Given the description of an element on the screen output the (x, y) to click on. 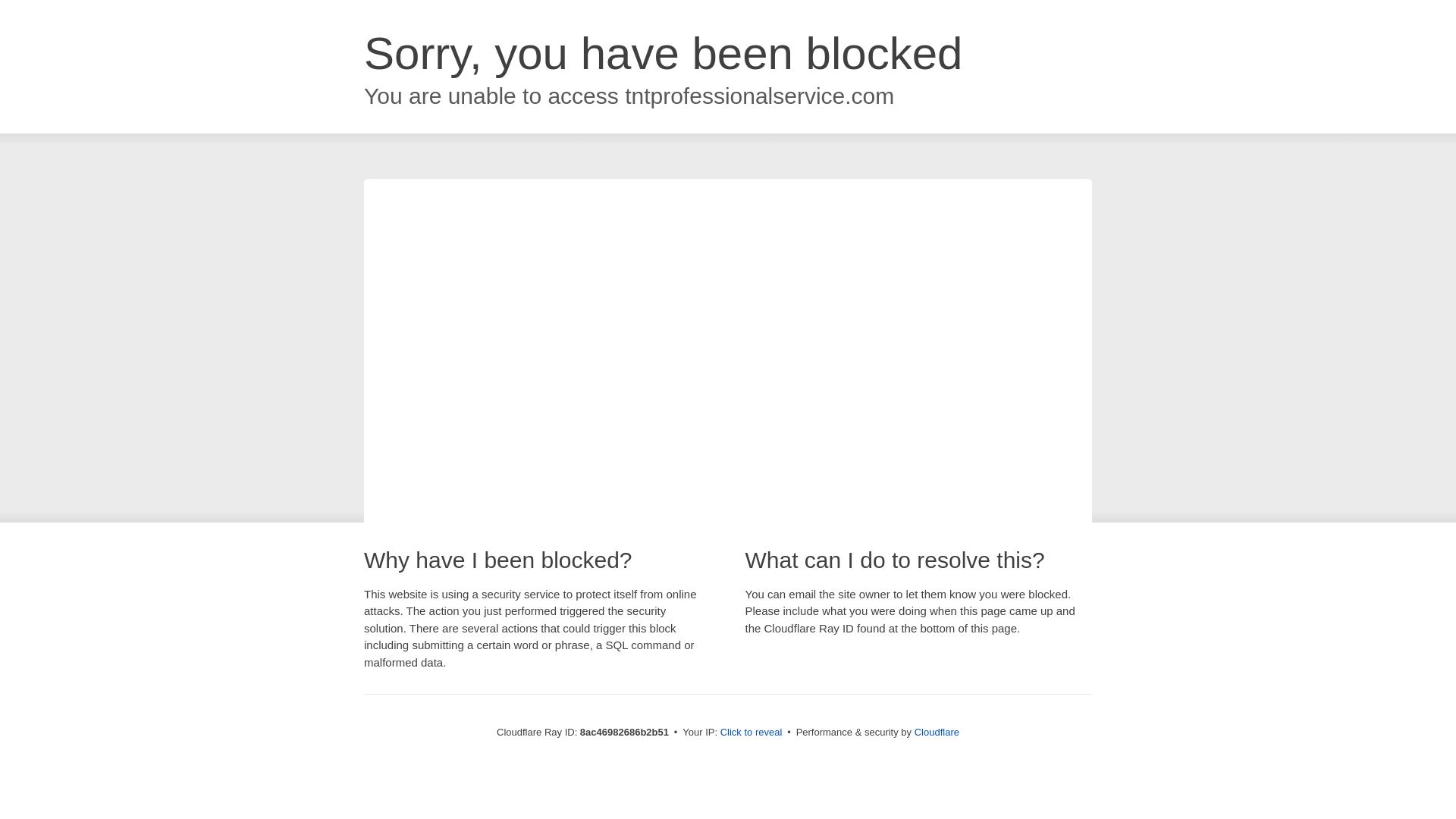
Click to reveal (751, 732)
Cloudflare (936, 731)
